Given the description of an element on the screen output the (x, y) to click on. 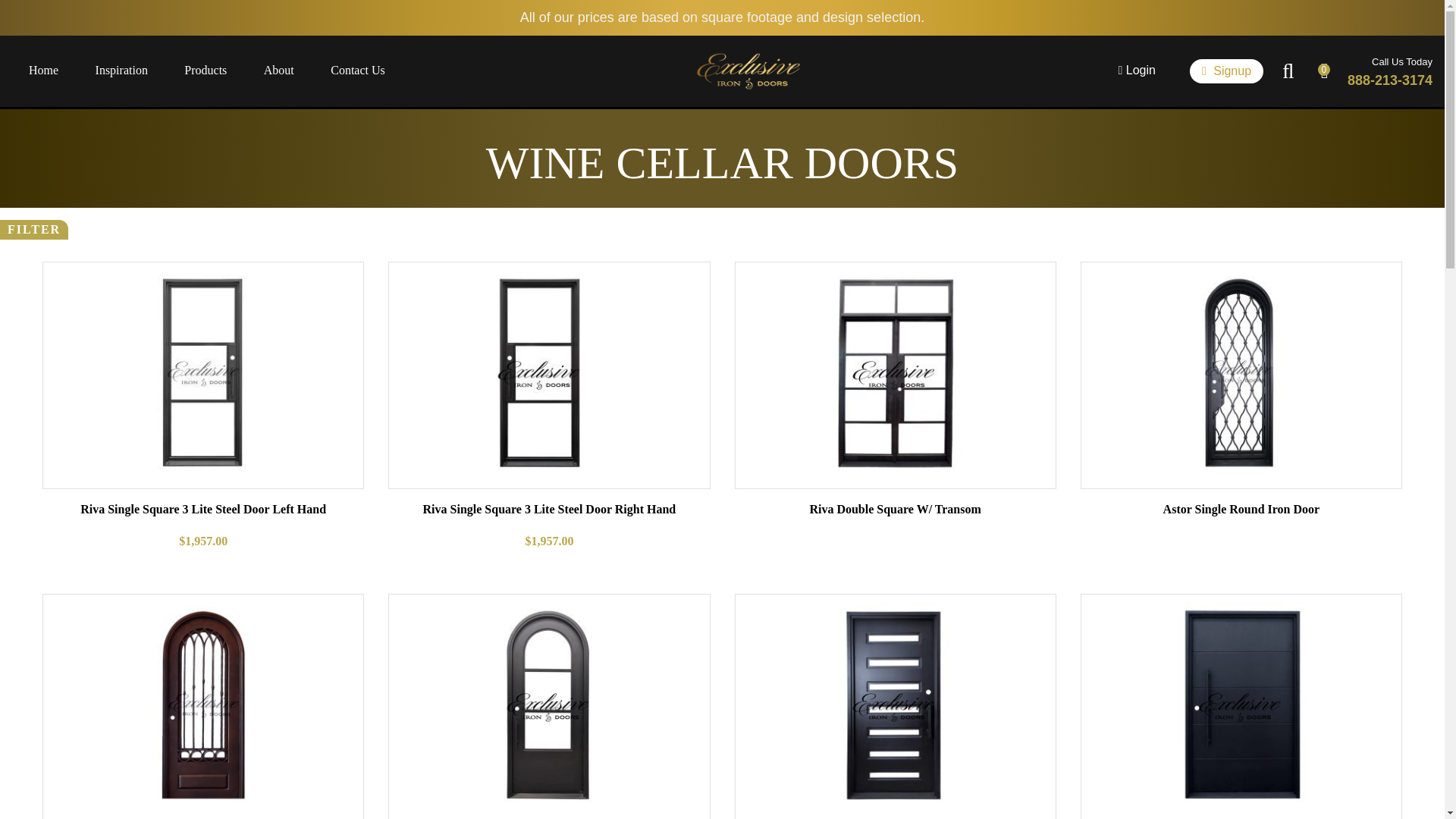
0 (1324, 71)
Login (1136, 70)
Products (205, 70)
Home (43, 70)
Contact Us (357, 70)
Inspiration (122, 70)
888-213-3174 (1390, 79)
About (278, 70)
Signup (1226, 70)
